Given the description of an element on the screen output the (x, y) to click on. 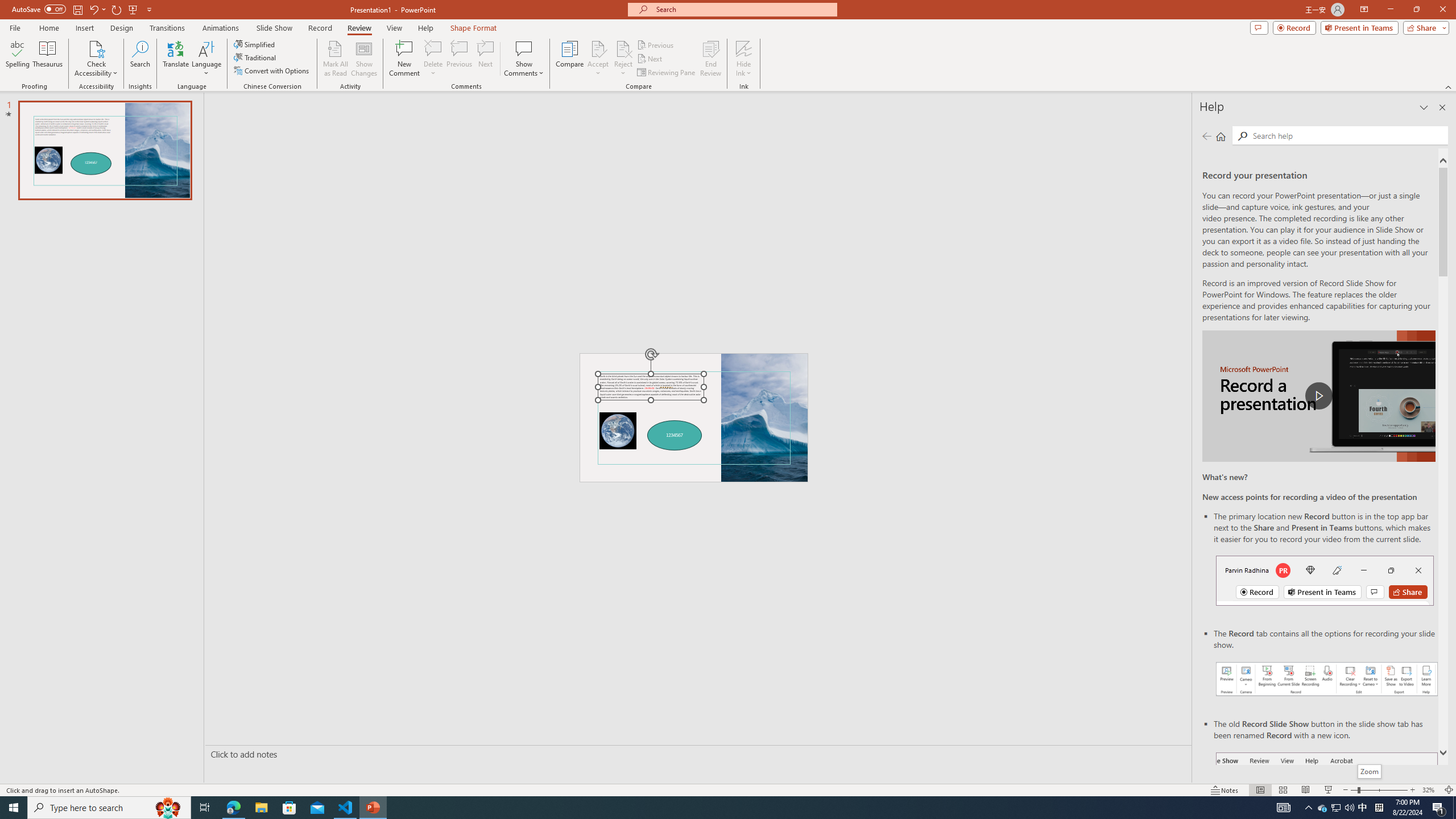
End Review (710, 58)
Convert with Options... (272, 69)
Show Changes (363, 58)
Zoom 32% (1430, 790)
